Given the description of an element on the screen output the (x, y) to click on. 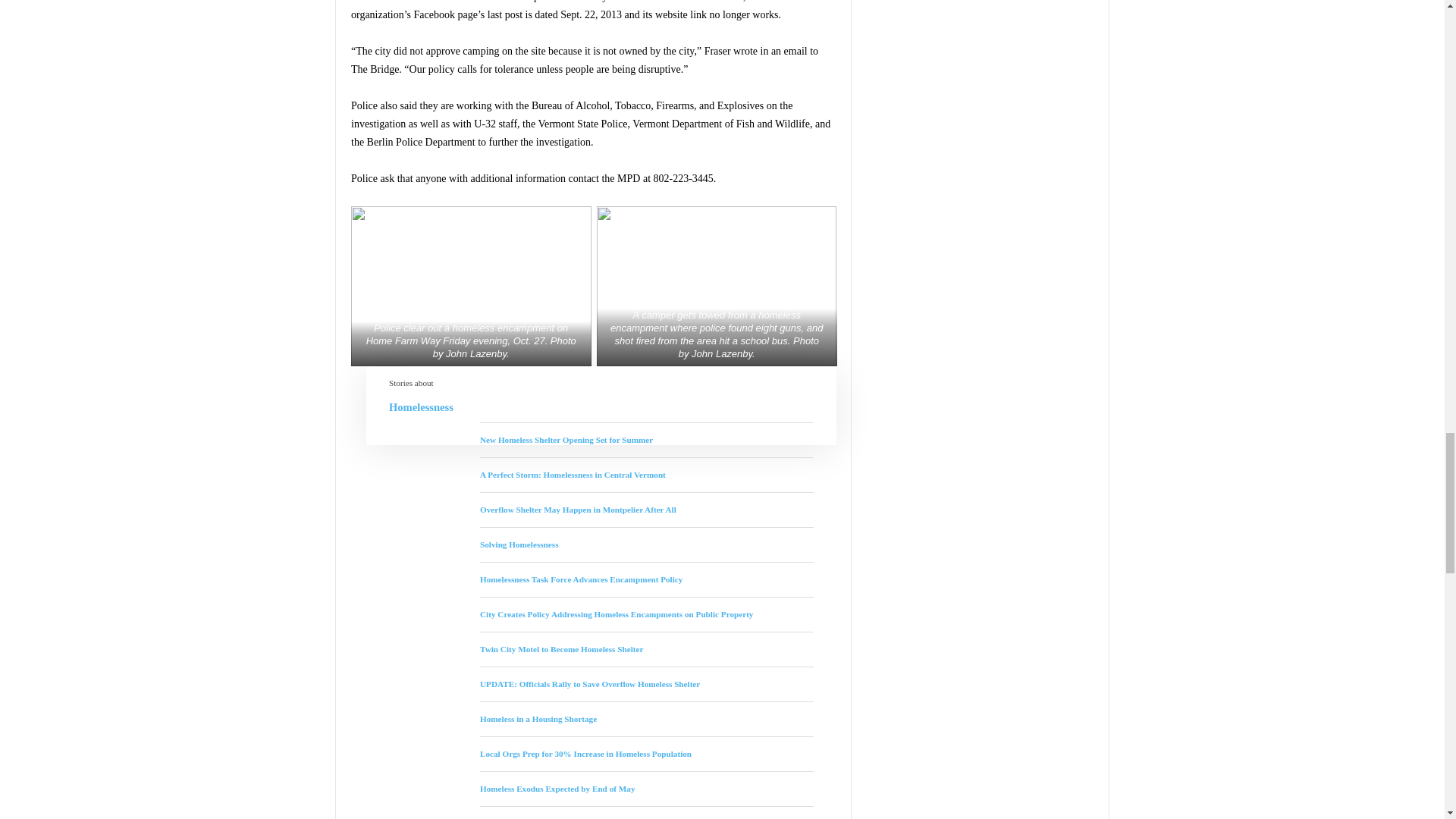
Homelessness (600, 403)
Solving Homelessness (519, 543)
Overflow Shelter May Happen in Montpelier After All (578, 509)
A Perfect Storm: Homelessness in Central Vermont (572, 474)
